Given the description of an element on the screen output the (x, y) to click on. 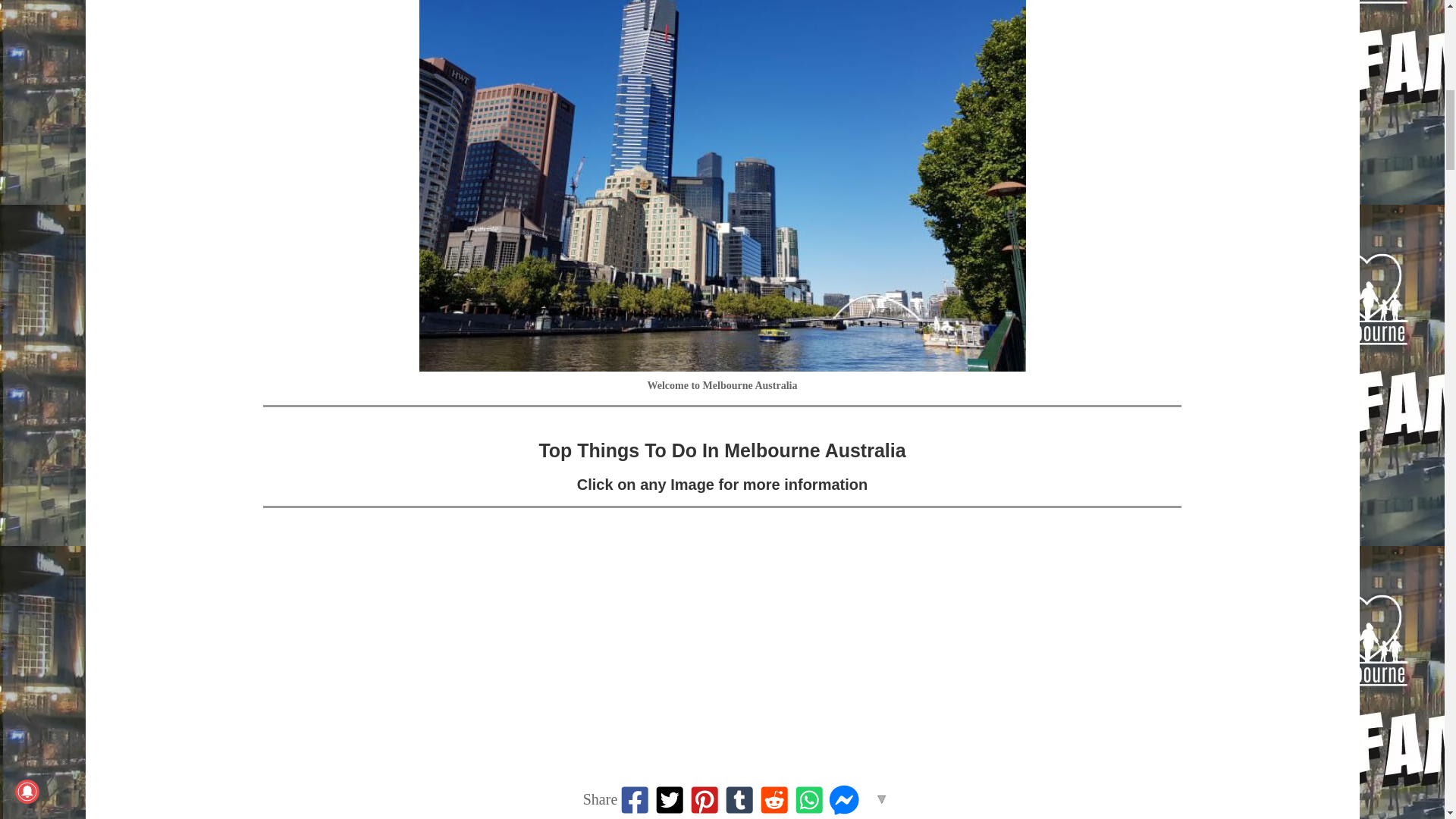
Go to Parks and Gardens in and around Melbourne (1152, 787)
Go to The Melbourne Zoo in the heart of the city (865, 787)
Go to Things to Do In Melbourne (579, 787)
